Given the description of an element on the screen output the (x, y) to click on. 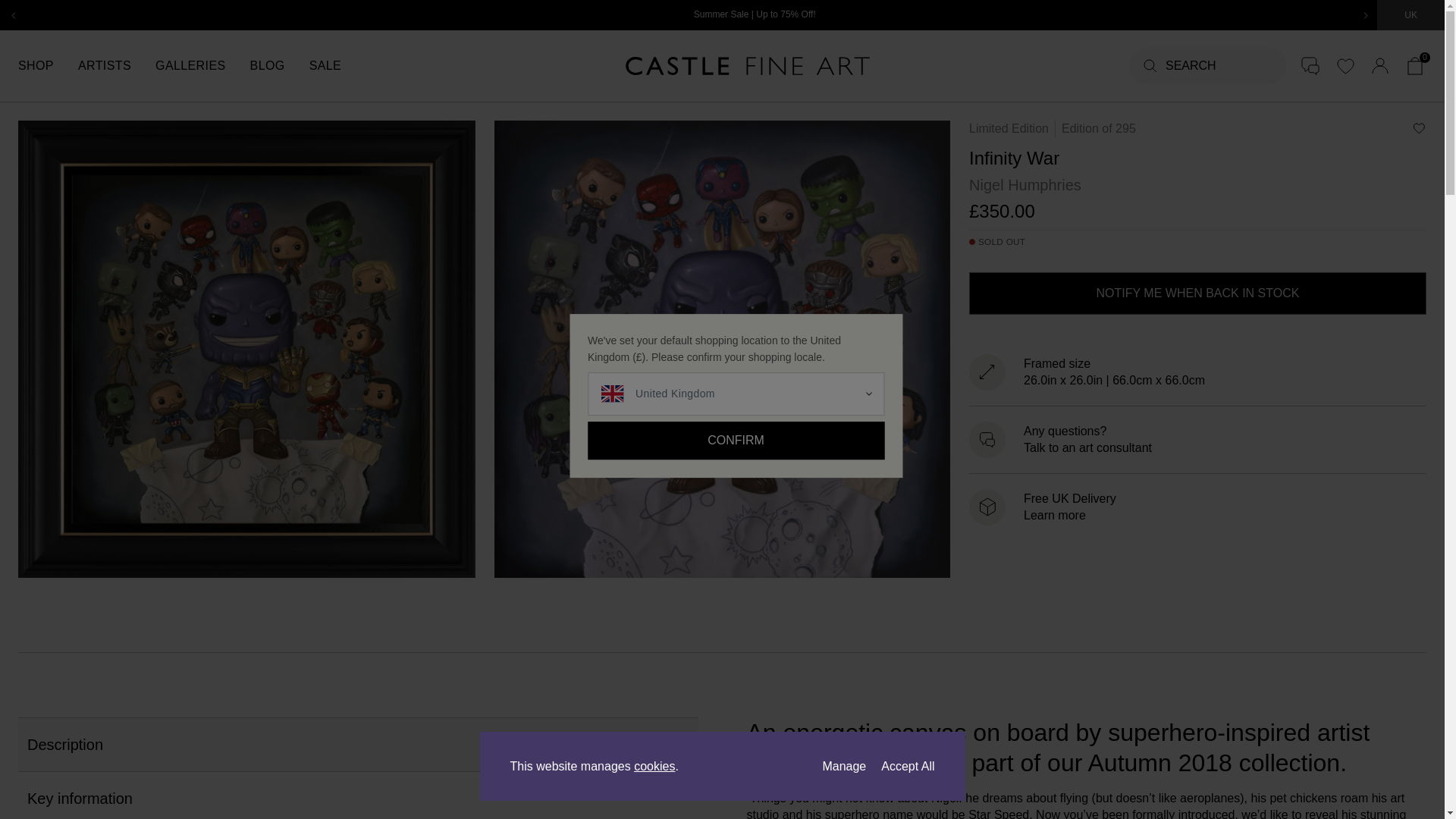
BLOG (279, 65)
0 (1414, 65)
SALE (337, 65)
SHOP (47, 65)
ARTISTS (116, 65)
GALLERIES (202, 65)
